Given the description of an element on the screen output the (x, y) to click on. 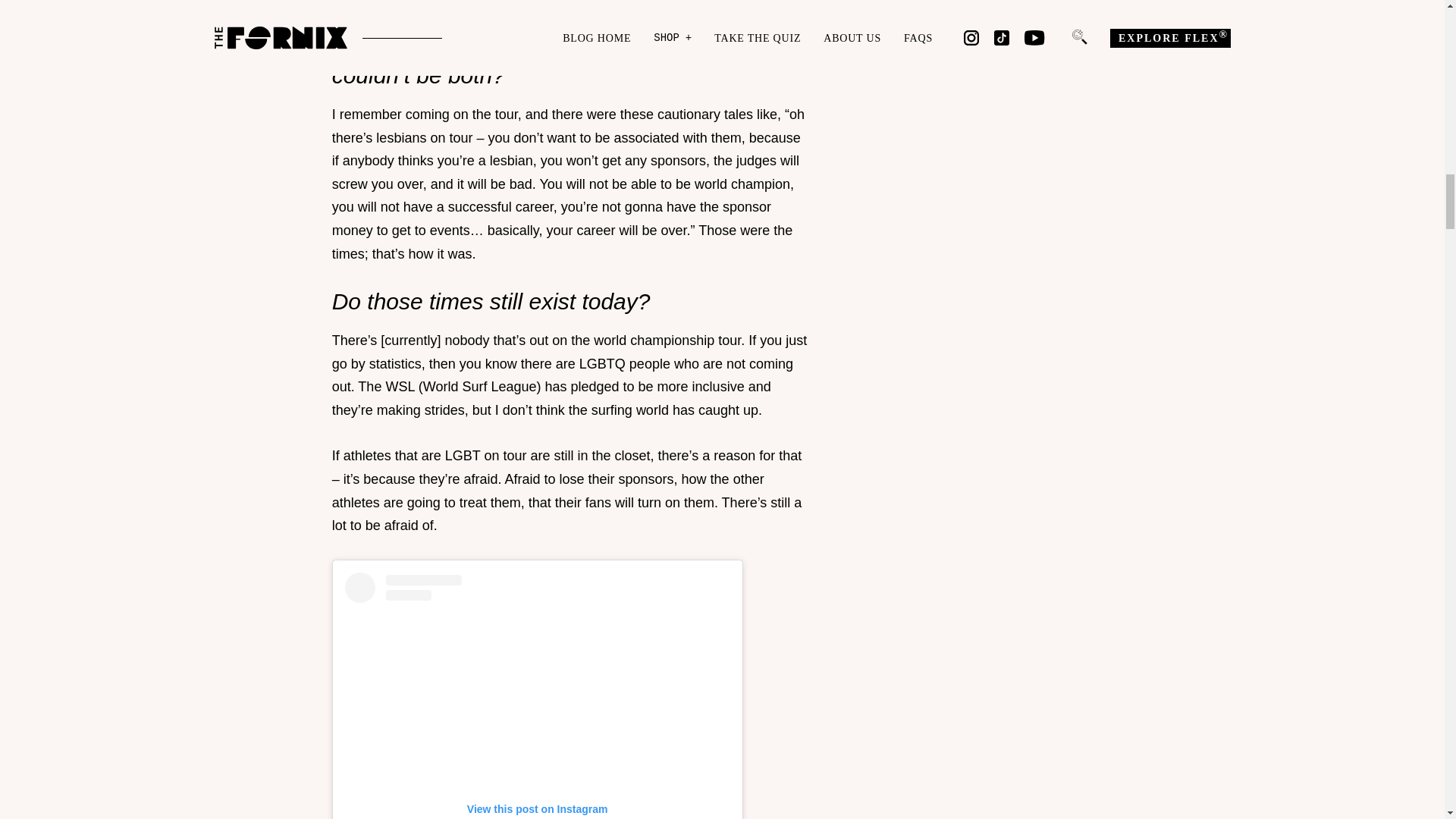
View this post on Instagram (537, 695)
